Given the description of an element on the screen output the (x, y) to click on. 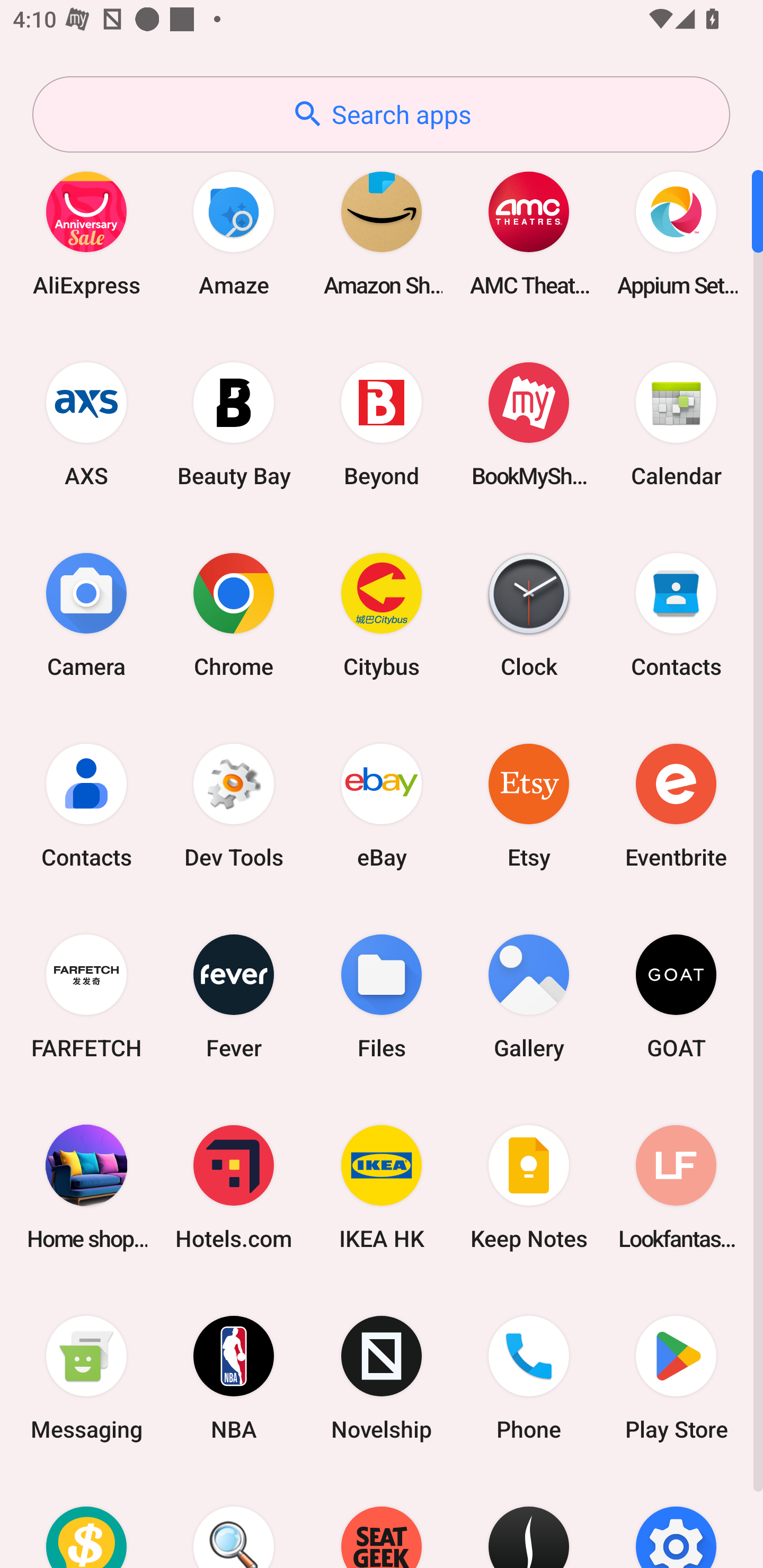
  Search apps (381, 114)
AliExpress (86, 233)
Amaze (233, 233)
Amazon Shopping (381, 233)
AMC Theatres (528, 233)
Appium Settings (676, 233)
AXS (86, 424)
Beauty Bay (233, 424)
Beyond (381, 424)
BookMyShow (528, 424)
Calendar (676, 424)
Camera (86, 614)
Chrome (233, 614)
Citybus (381, 614)
Clock (528, 614)
Contacts (676, 614)
Contacts (86, 805)
Dev Tools (233, 805)
eBay (381, 805)
Etsy (528, 805)
Eventbrite (676, 805)
FARFETCH (86, 996)
Fever (233, 996)
Files (381, 996)
Gallery (528, 996)
GOAT (676, 996)
Home shopping (86, 1186)
Hotels.com (233, 1186)
IKEA HK (381, 1186)
Keep Notes (528, 1186)
Lookfantastic (676, 1186)
Messaging (86, 1377)
NBA (233, 1377)
Novelship (381, 1377)
Phone (528, 1377)
Play Store (676, 1377)
Price (86, 1520)
Search (233, 1520)
SeatGeek (381, 1520)
Sephora (528, 1520)
Settings (676, 1520)
